Given the description of an element on the screen output the (x, y) to click on. 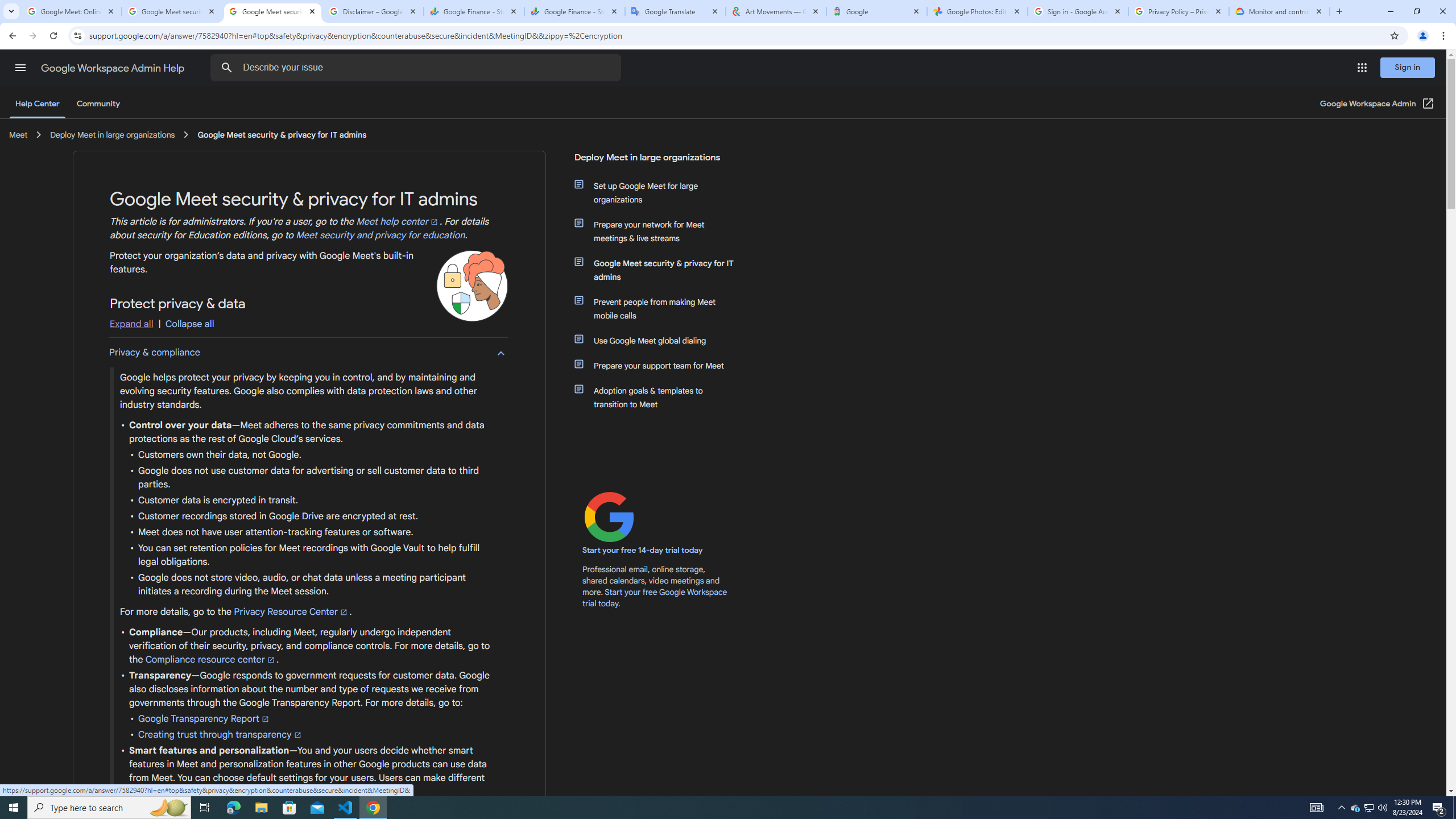
Prepare your network for Meet meetings & live streams (661, 231)
Google Workspace Admin Help (113, 68)
Search Help Center (227, 67)
Adoption goals & templates to transition to Meet (661, 397)
Google Translate (675, 11)
Deploy Meet in large organizations (656, 161)
Google (876, 11)
